Given the description of an element on the screen output the (x, y) to click on. 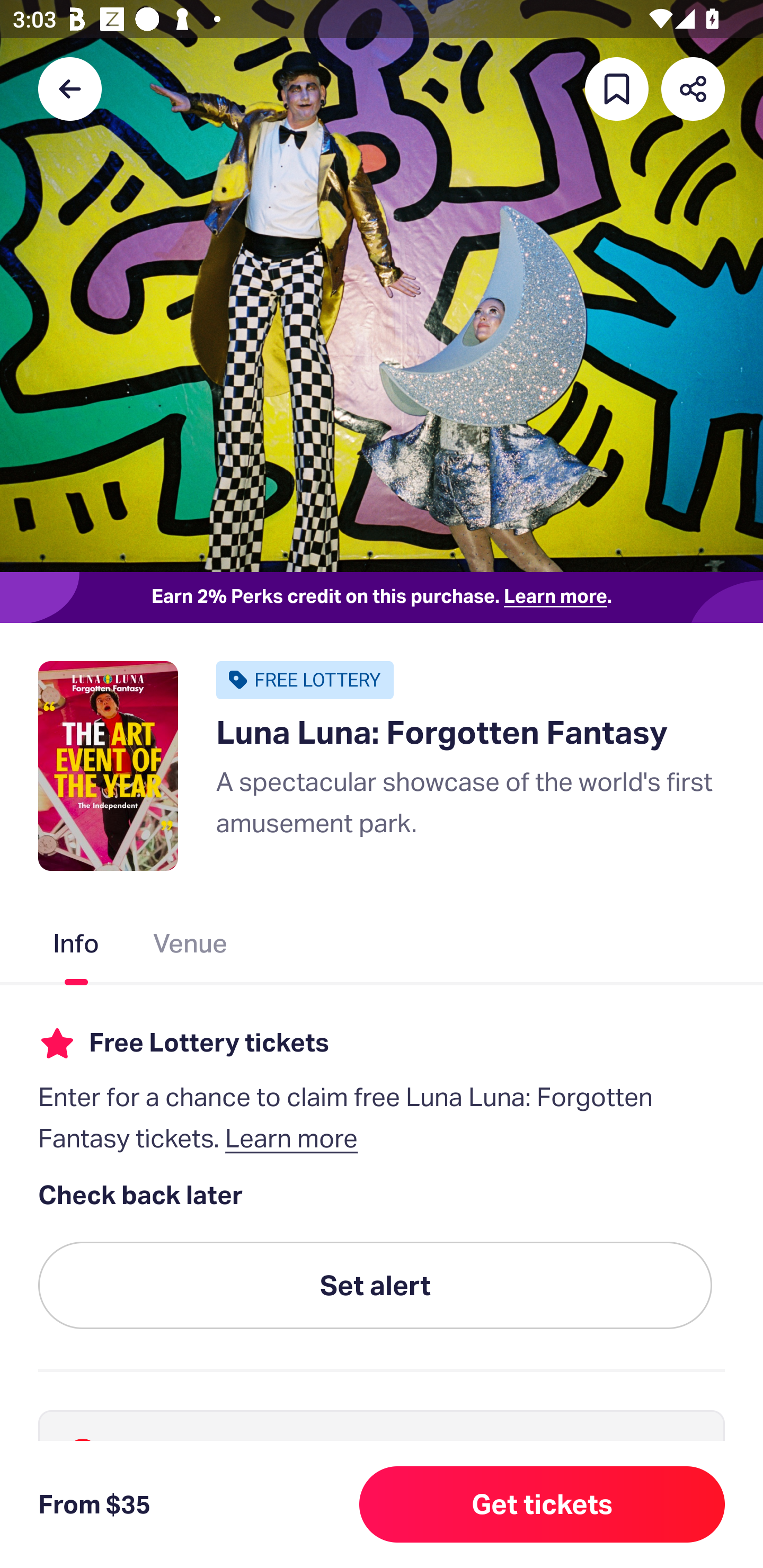
Earn 2% Perks credit on this purchase. Learn more. (381, 597)
Venue (190, 946)
Set alert (374, 1286)
Get tickets (541, 1504)
